Given the description of an element on the screen output the (x, y) to click on. 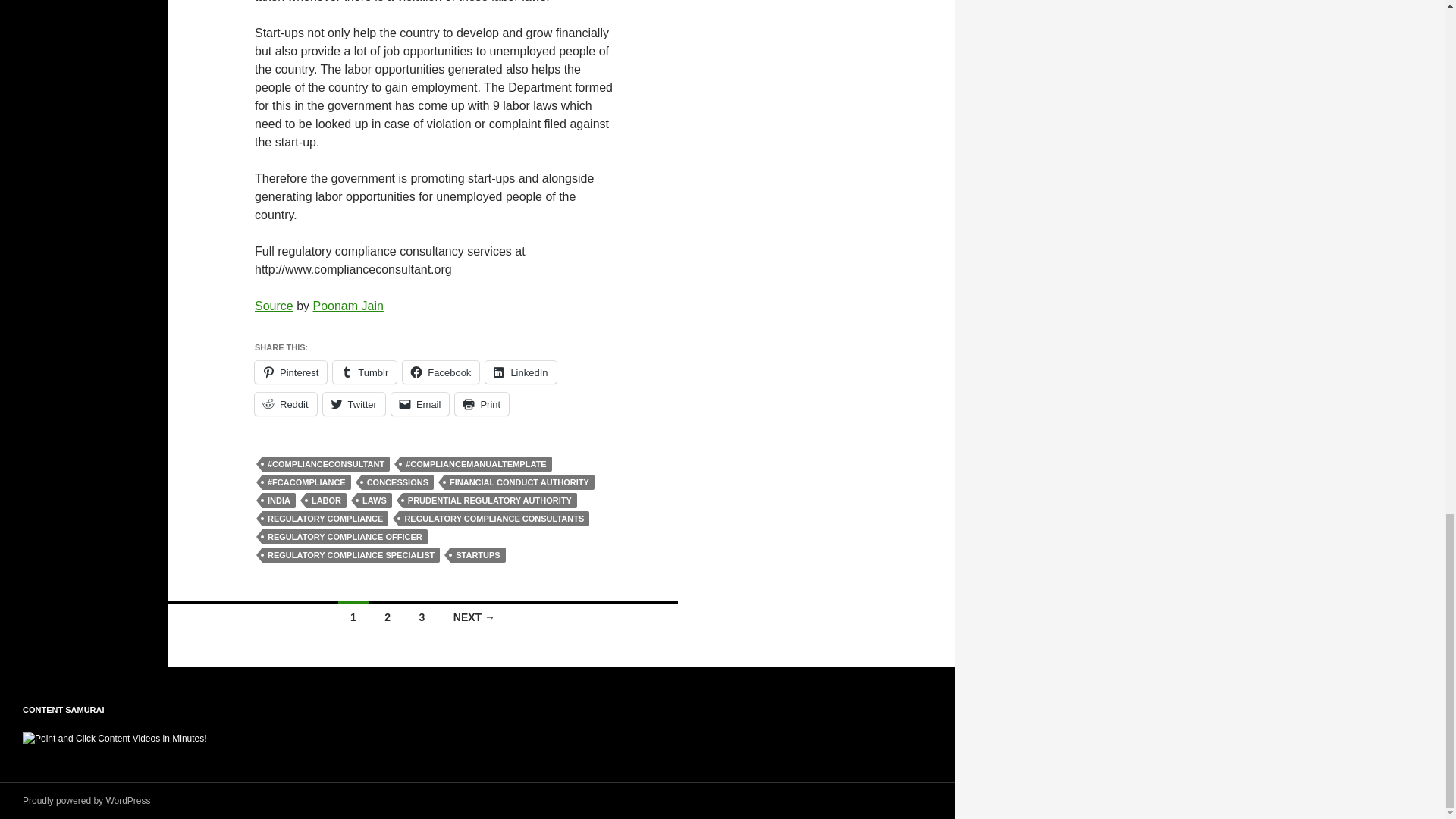
LinkedIn (520, 372)
PRUDENTIAL REGULATORY AUTHORITY (489, 500)
Pinterest (290, 372)
Tumblr (364, 372)
FINANCIAL CONDUCT AUTHORITY (519, 482)
REGULATORY COMPLIANCE OFFICER (345, 536)
Click to share on LinkedIn (520, 372)
Point and Click Content Videos in Minutes! (114, 738)
Twitter (354, 404)
Poonam Jain (347, 305)
